Given the description of an element on the screen output the (x, y) to click on. 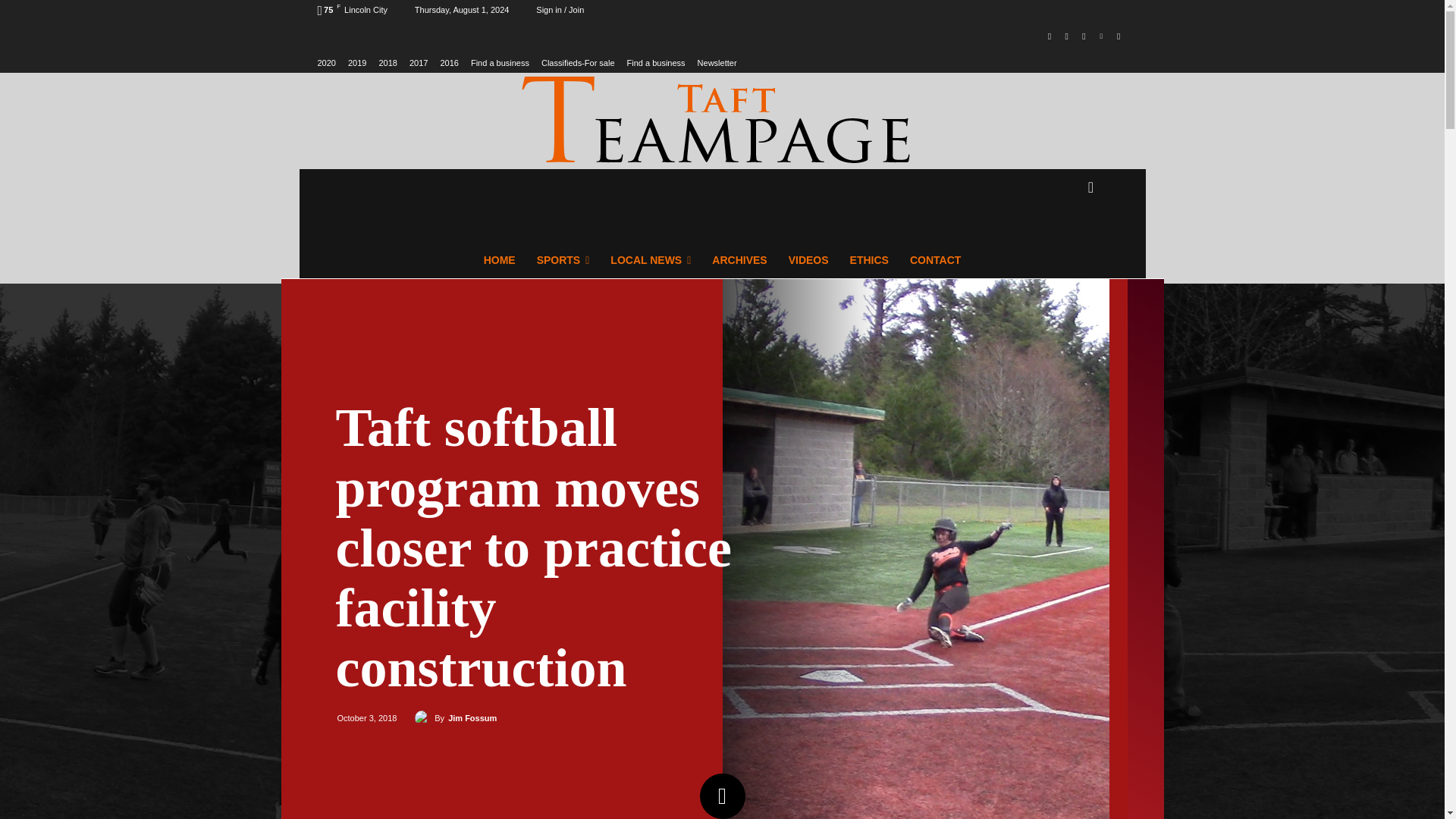
2020 (325, 62)
Vimeo (1101, 36)
2018 (387, 62)
Twitter (1084, 36)
2019 (356, 62)
Facebook (1049, 36)
Instagram (1066, 36)
